Given the description of an element on the screen output the (x, y) to click on. 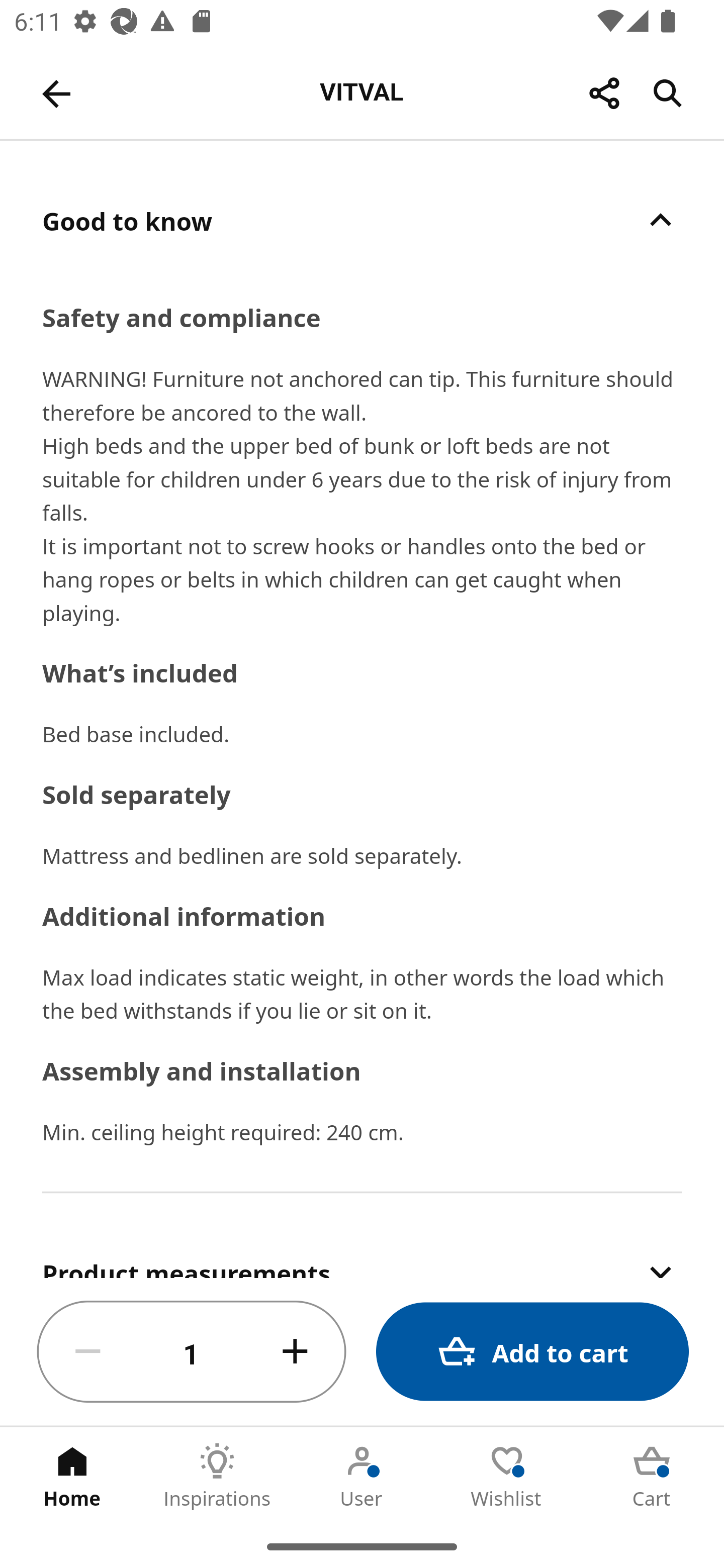
Good to know (361, 219)
Add to cart (531, 1352)
1 (191, 1352)
Home
Tab 1 of 5 (72, 1476)
Inspirations
Tab 2 of 5 (216, 1476)
User
Tab 3 of 5 (361, 1476)
Wishlist
Tab 4 of 5 (506, 1476)
Cart
Tab 5 of 5 (651, 1476)
